Given the description of an element on the screen output the (x, y) to click on. 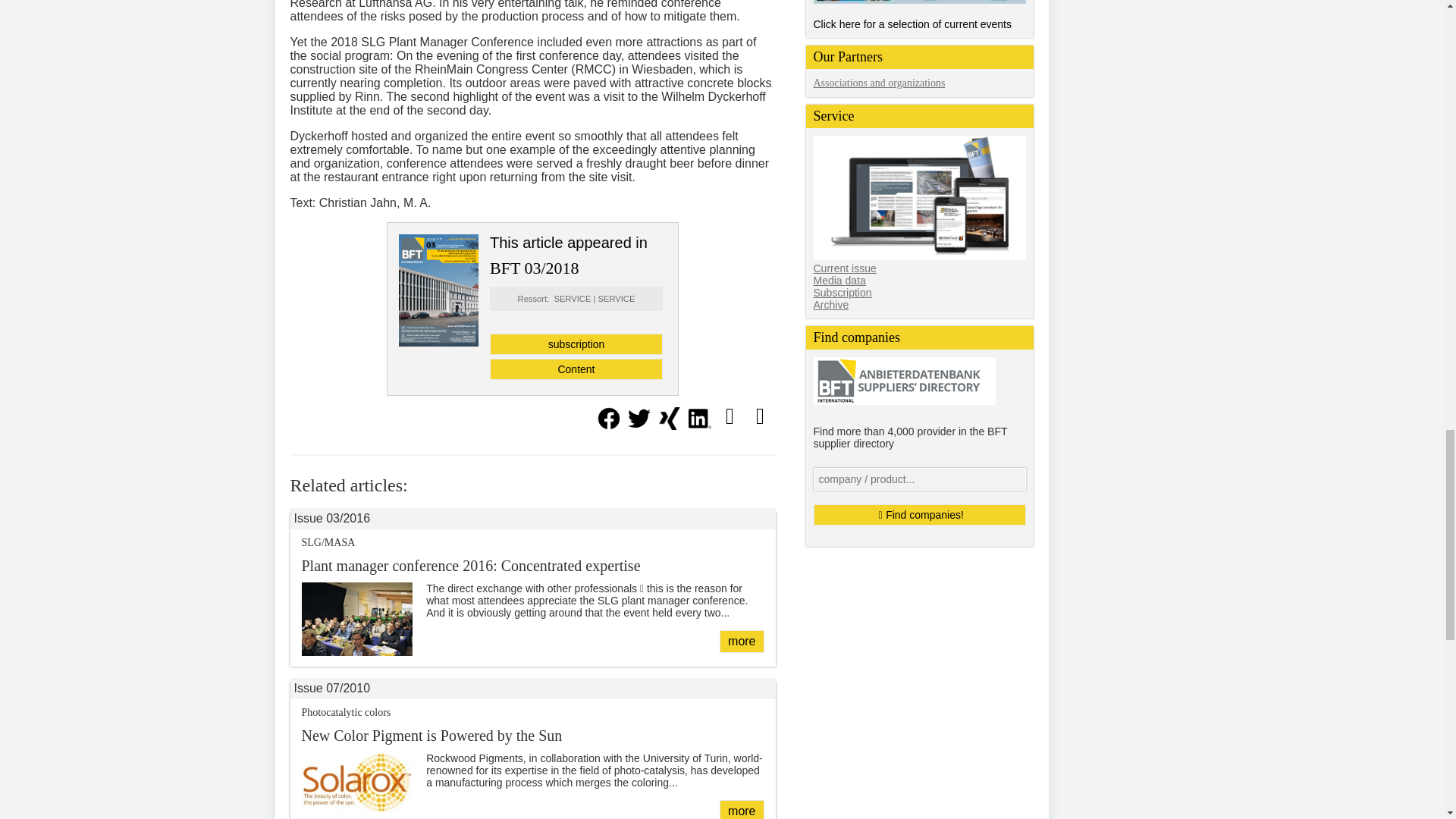
Artikel drucken (759, 415)
Plant manager conference 2016: Concentrated expertise (470, 565)
Content (575, 369)
Plant manager conference 2016: Concentrated expertise (740, 640)
Per E-Mail teilen (729, 415)
Tweet auf Twitter (638, 425)
subscription (575, 343)
Suchen (918, 514)
New Color Pigment is Powered by the Sun (740, 809)
Auf Xing teilen (668, 425)
Auf facebook teilen (607, 425)
Bau-Produkte oder Anbieter (918, 478)
Auf LinkedIn teilen (699, 425)
